Given the description of an element on the screen output the (x, y) to click on. 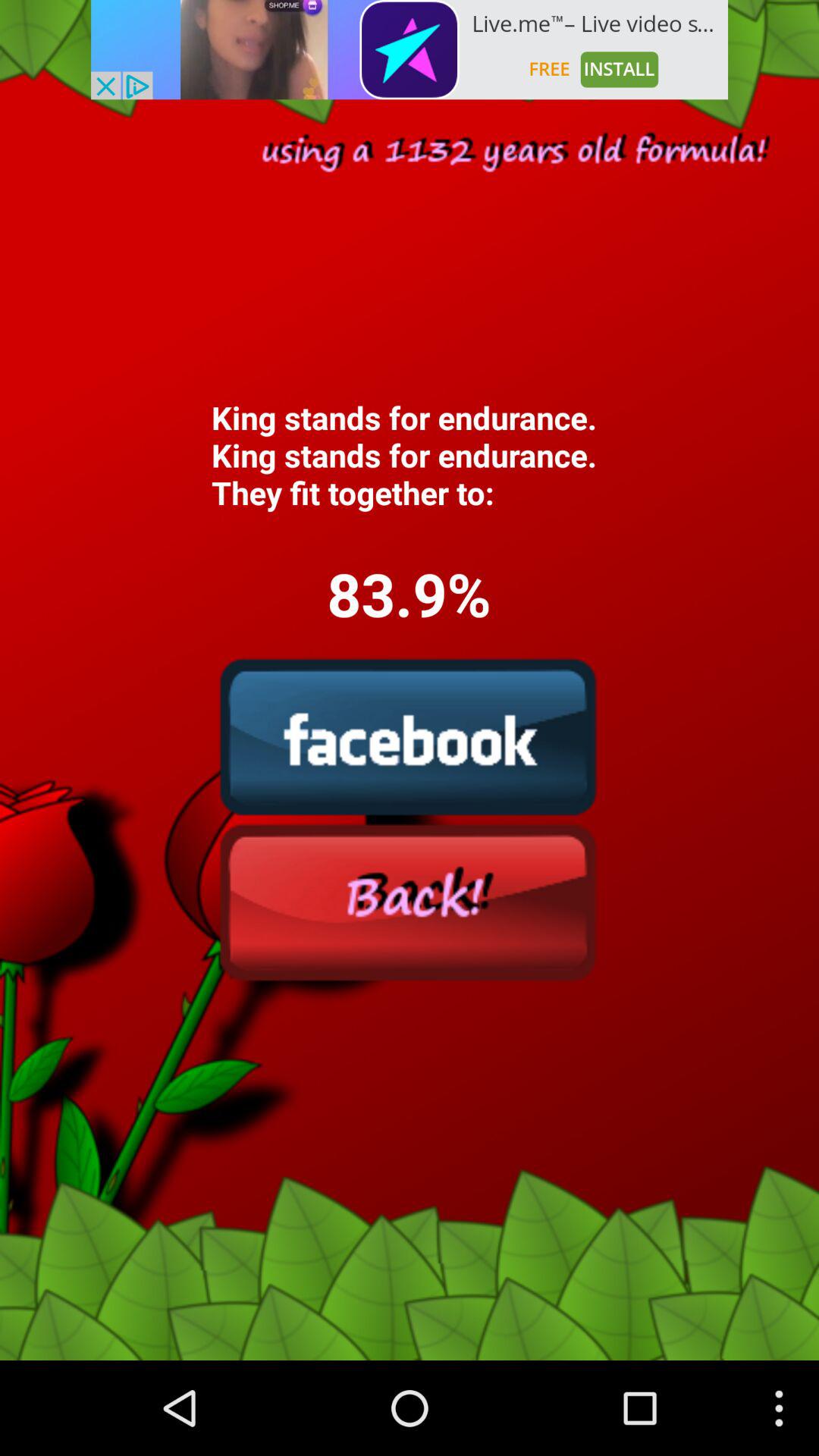
toggle advertisement (409, 49)
